Given the description of an element on the screen output the (x, y) to click on. 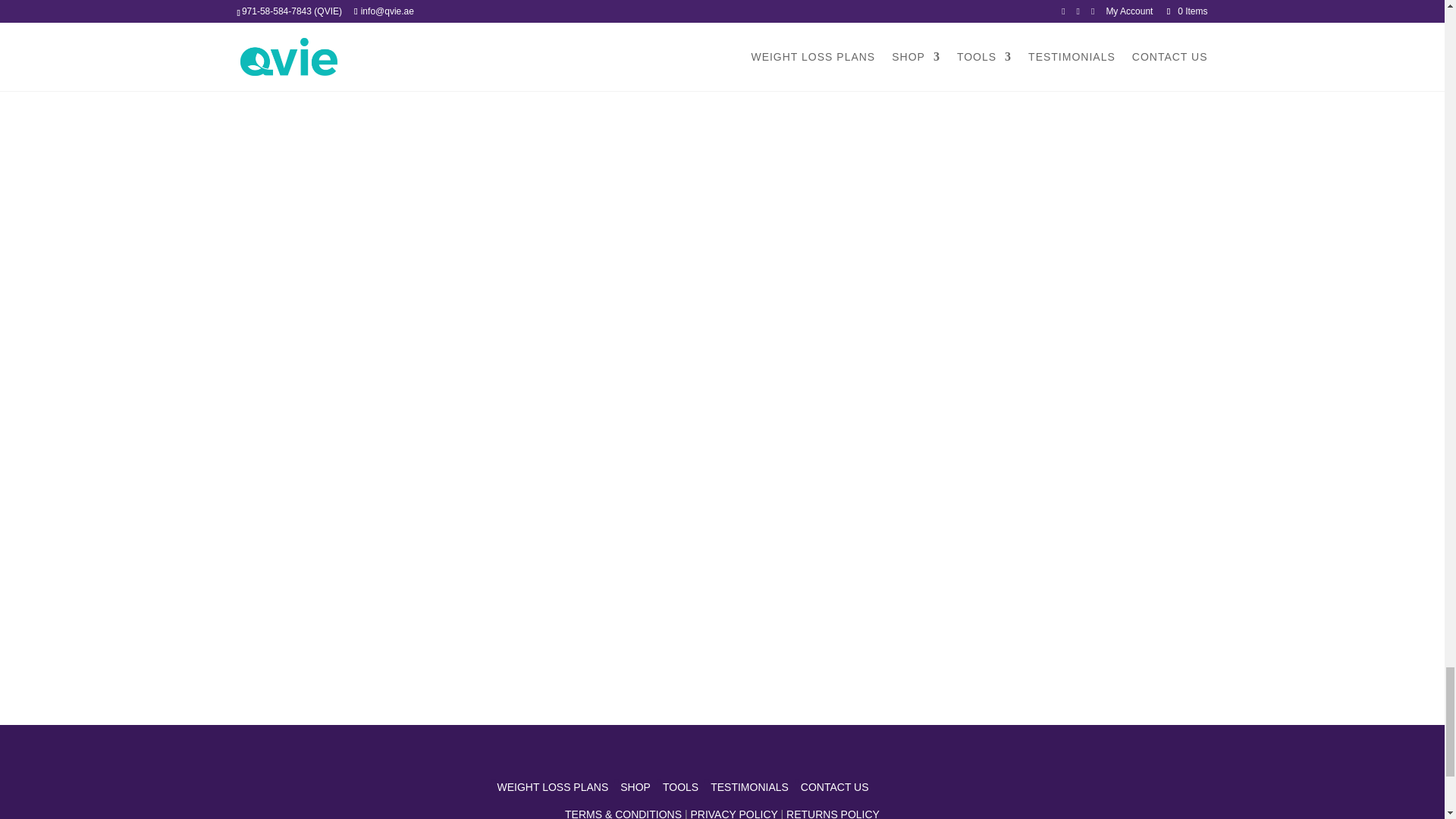
WEIGHT LOSS PLANS (552, 787)
PRIVACY POLICY (733, 813)
SHOP (635, 787)
CONTACT US (834, 787)
TESTIMONIALS (749, 787)
RETURNS POLICY (832, 813)
TOOLS (680, 787)
